Given the description of an element on the screen output the (x, y) to click on. 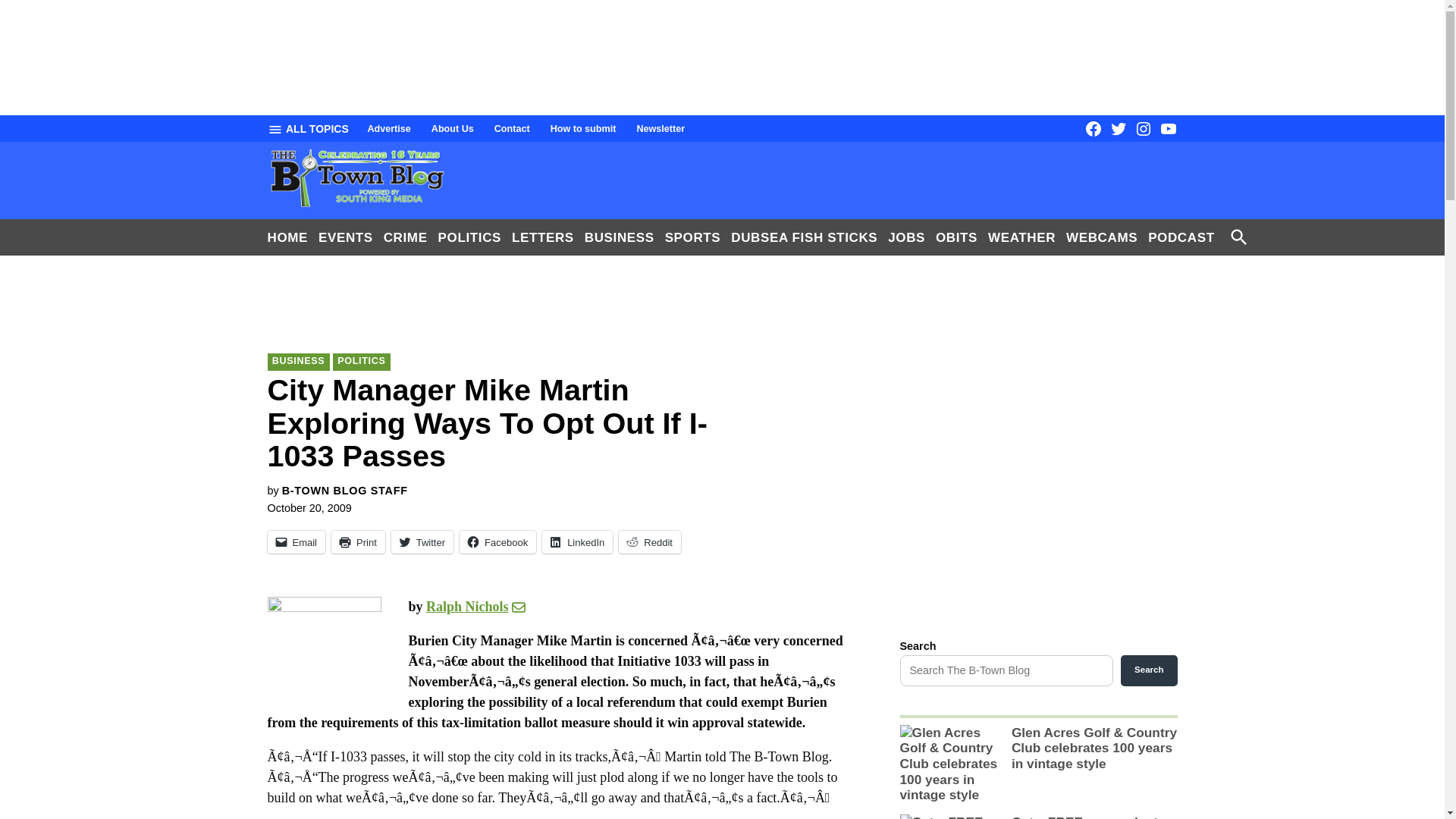
Click to share on LinkedIn (576, 541)
Click to share on Reddit (649, 541)
Click to email a link to a friend (295, 541)
Click to share on Facebook (497, 541)
Click to print (358, 541)
Click to share on Twitter (421, 541)
